Given the description of an element on the screen output the (x, y) to click on. 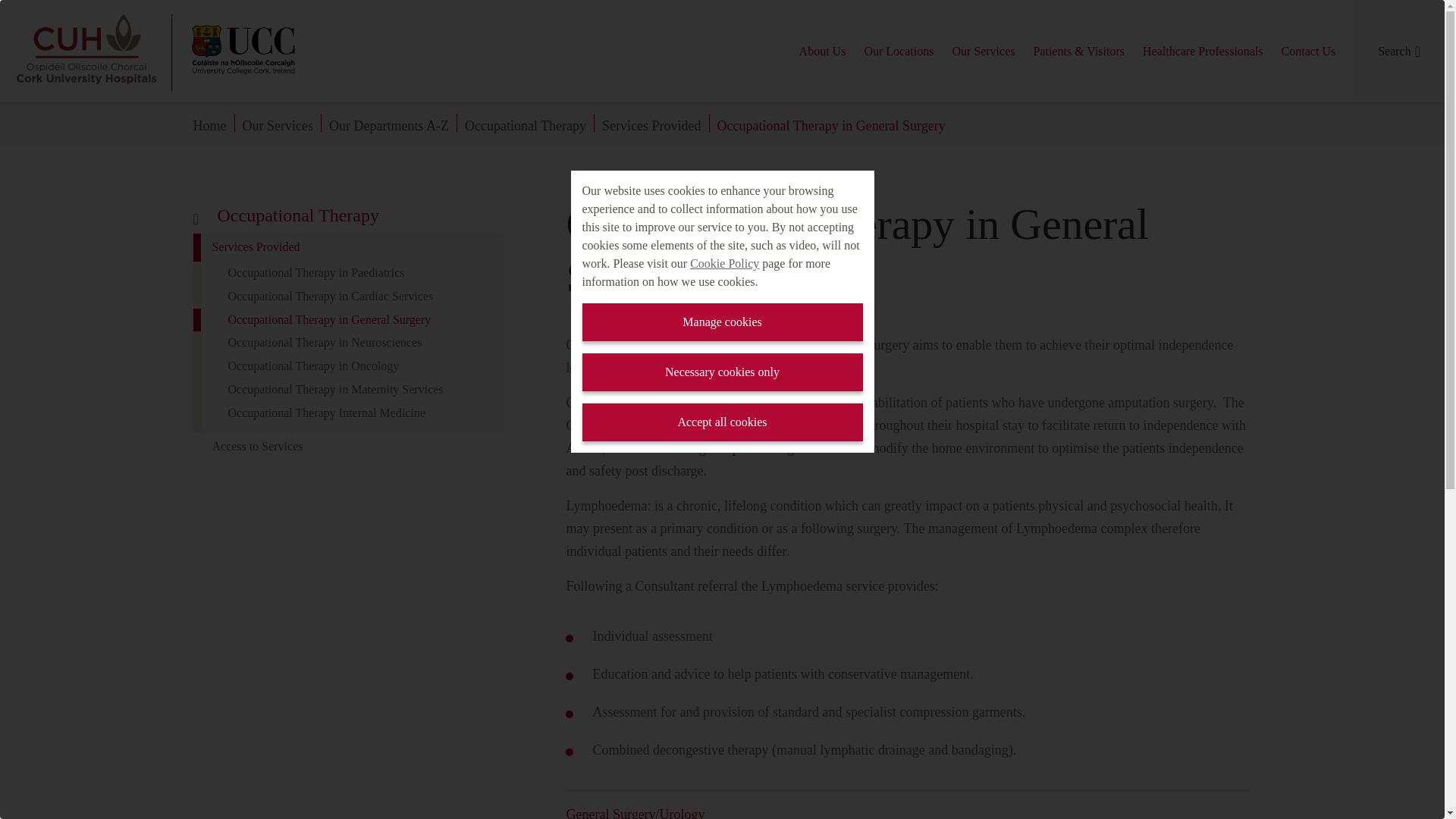
About Us (823, 50)
Our Locations (898, 50)
